Given the description of an element on the screen output the (x, y) to click on. 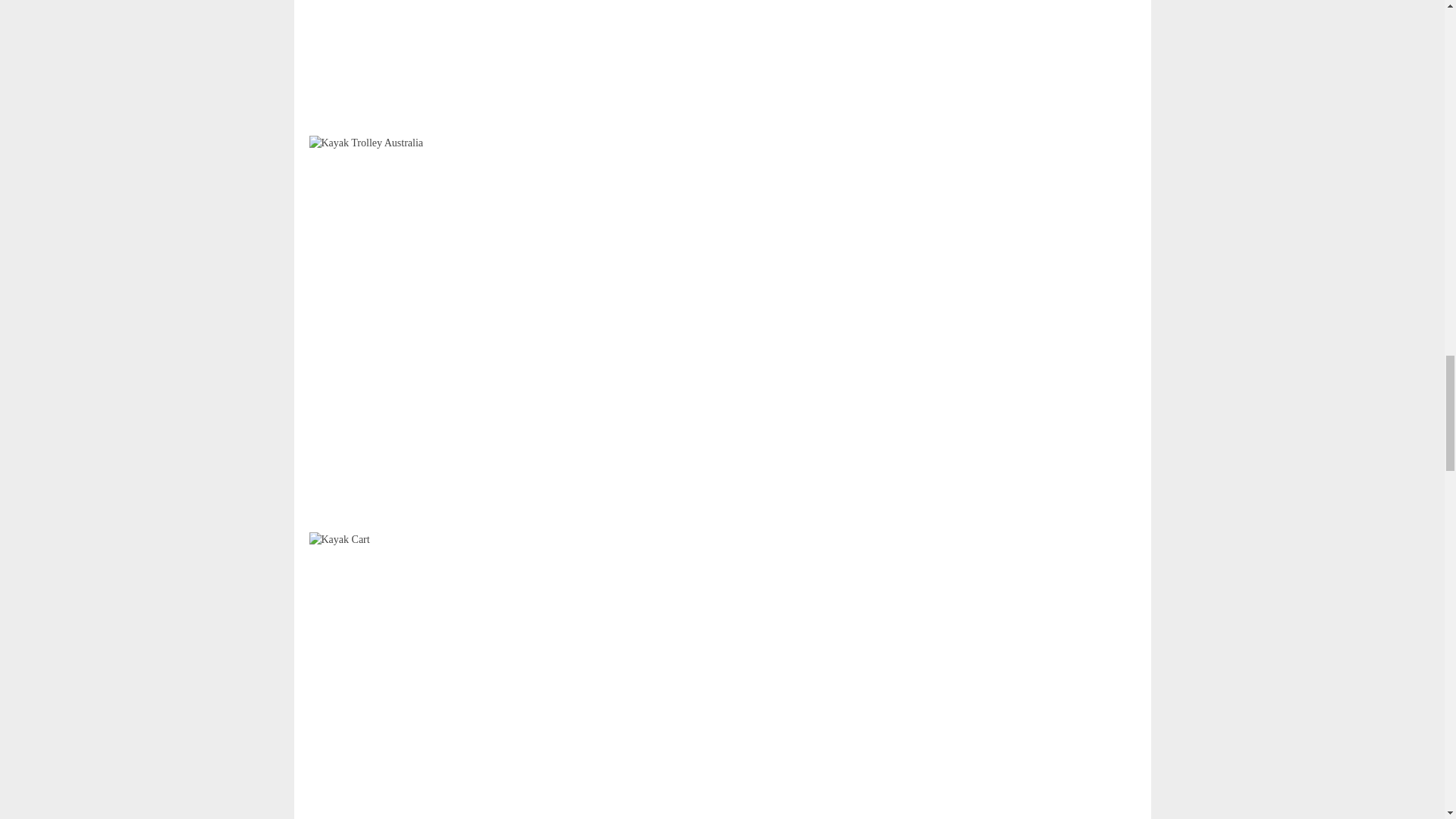
Kayak Trolley - Sit in (507, 67)
Kayak Trolley - Sit in (507, 675)
